Given the description of an element on the screen output the (x, y) to click on. 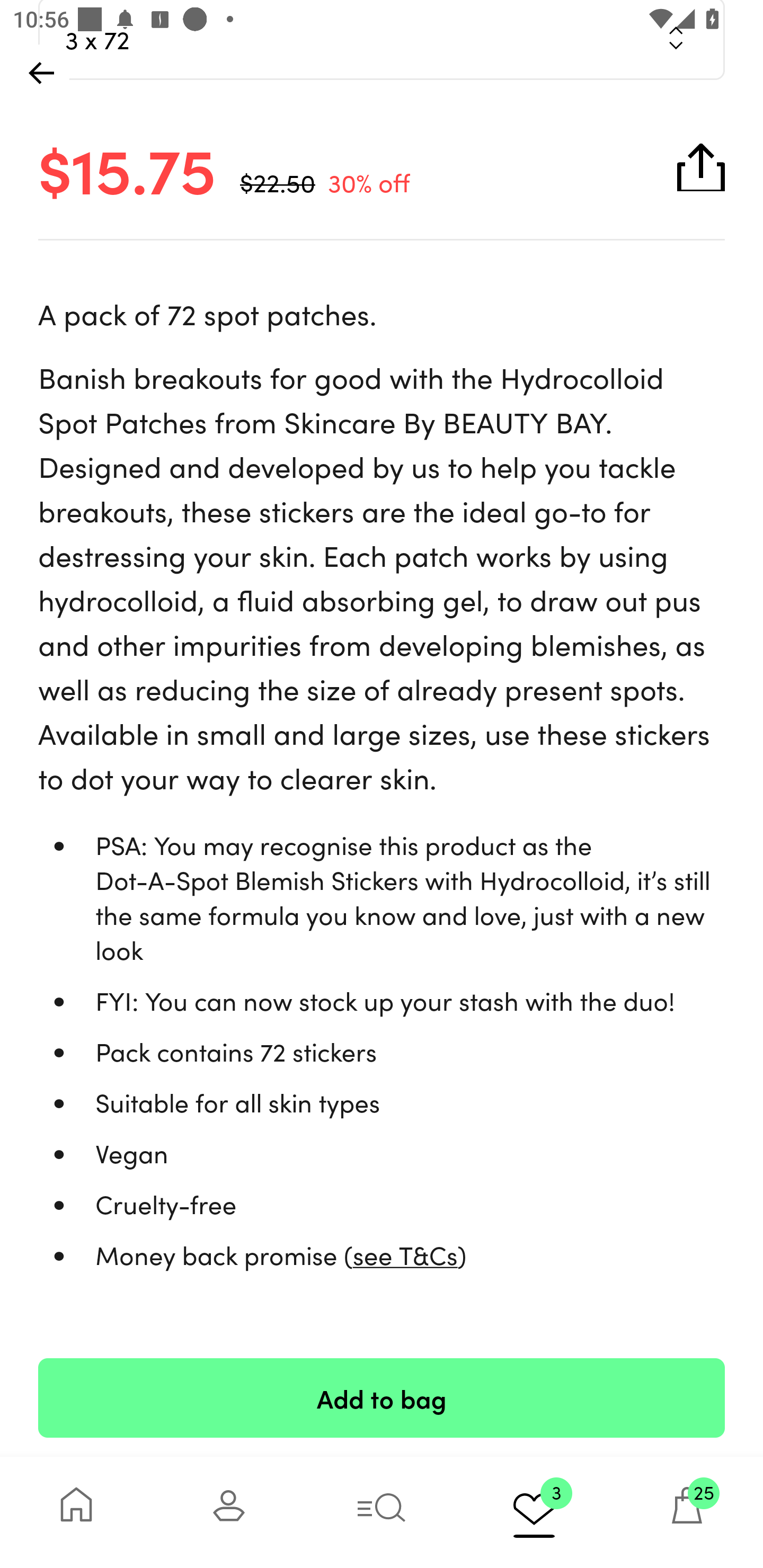
Add to bag (381, 1397)
3 (533, 1512)
25 (686, 1512)
